Given the description of an element on the screen output the (x, y) to click on. 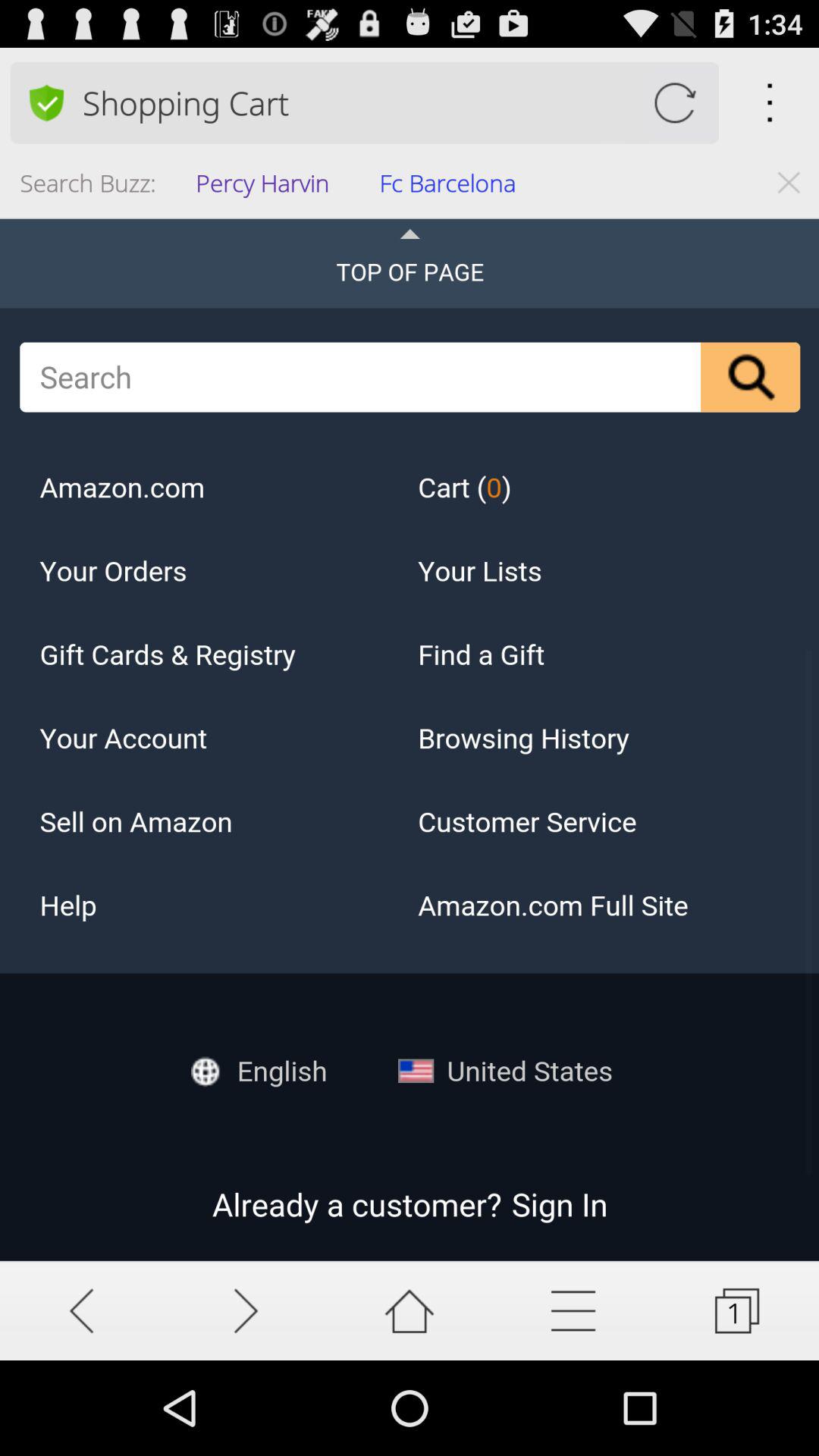
turn on item below shopping cart app (452, 187)
